Given the description of an element on the screen output the (x, y) to click on. 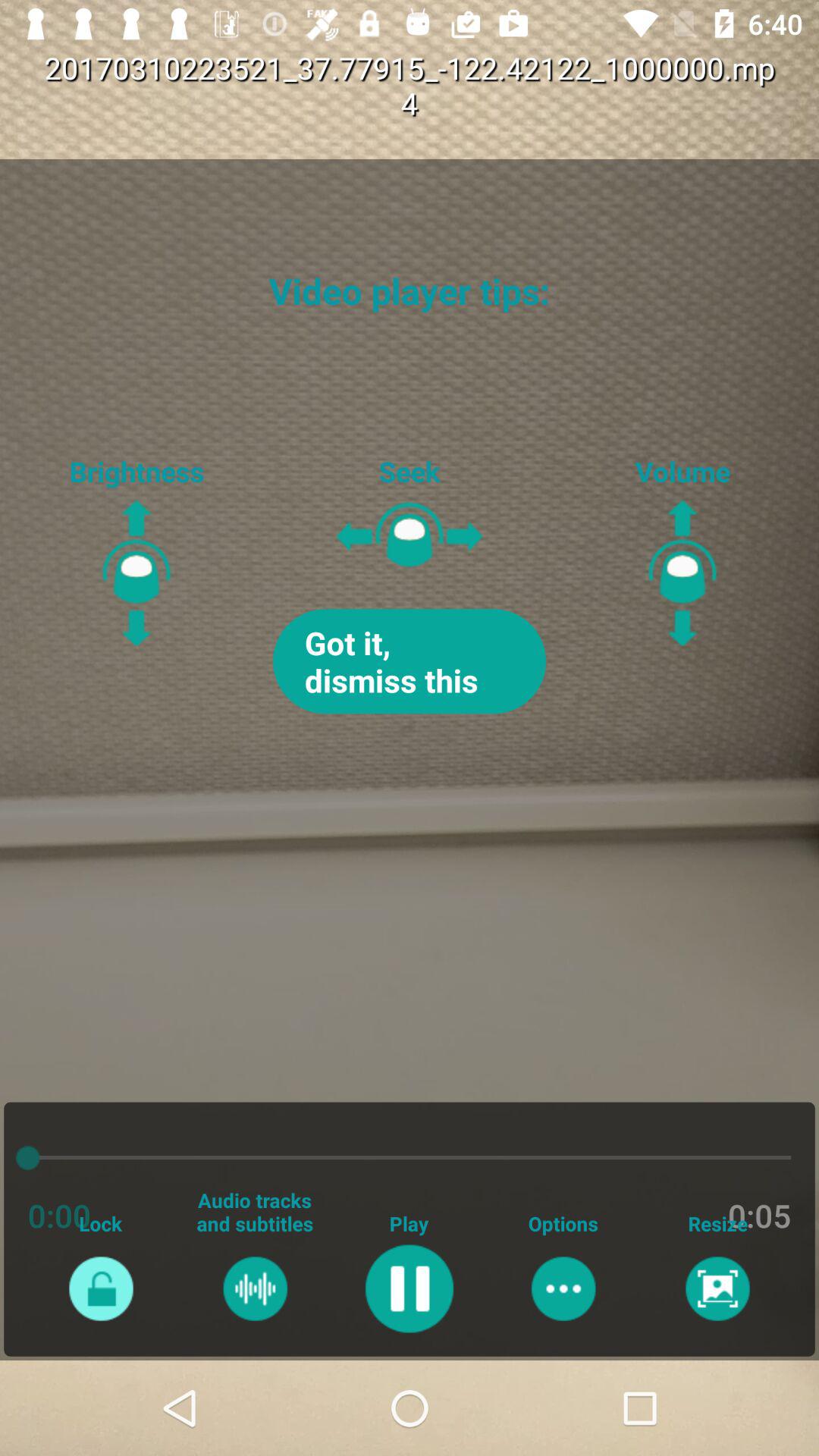
select the item below the seek icon (409, 661)
